Given the description of an element on the screen output the (x, y) to click on. 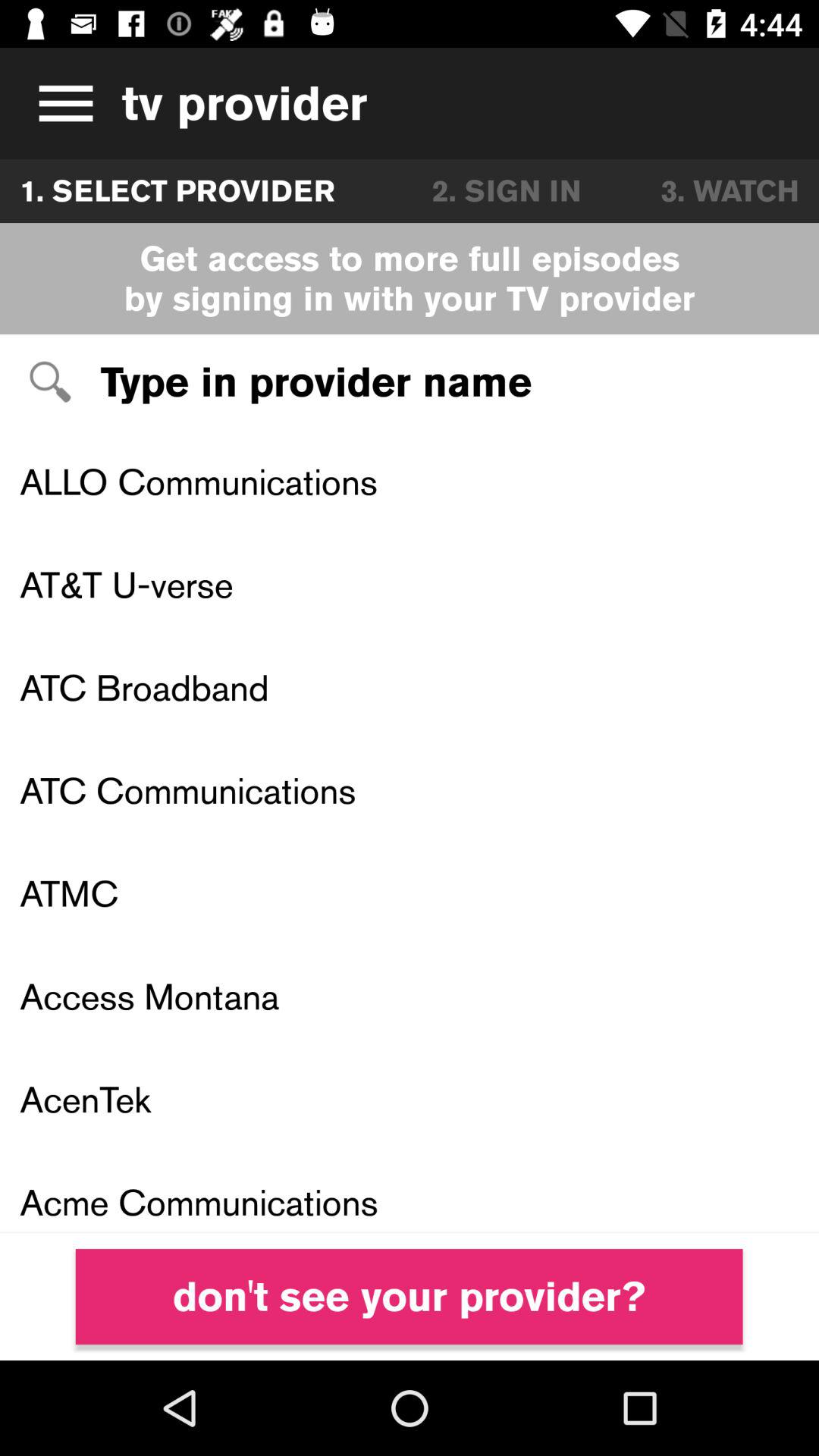
flip until the at t u item (409, 584)
